Given the description of an element on the screen output the (x, y) to click on. 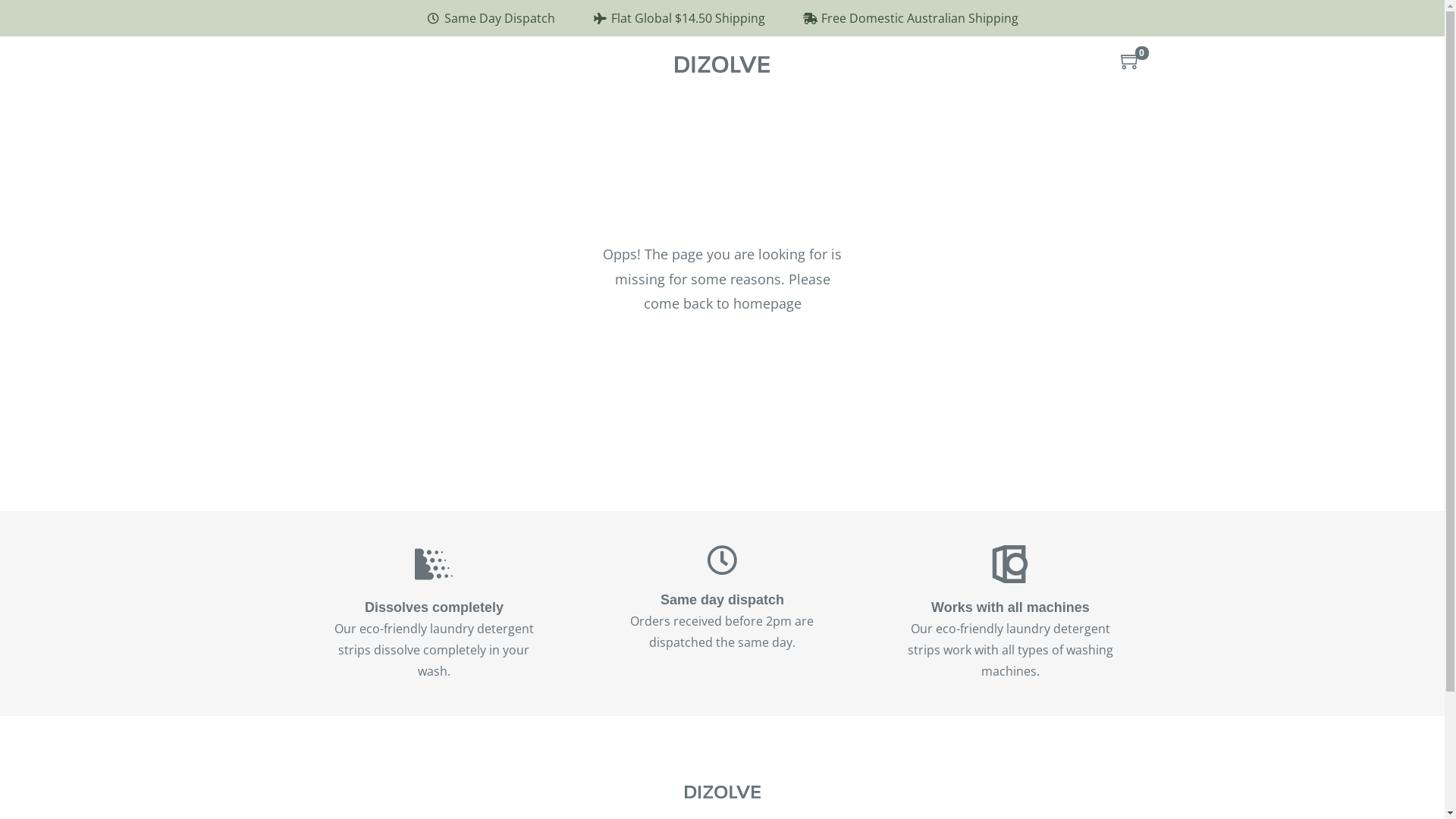
0 Element type: text (1130, 61)
Search Element type: text (950, 428)
